Given the description of an element on the screen output the (x, y) to click on. 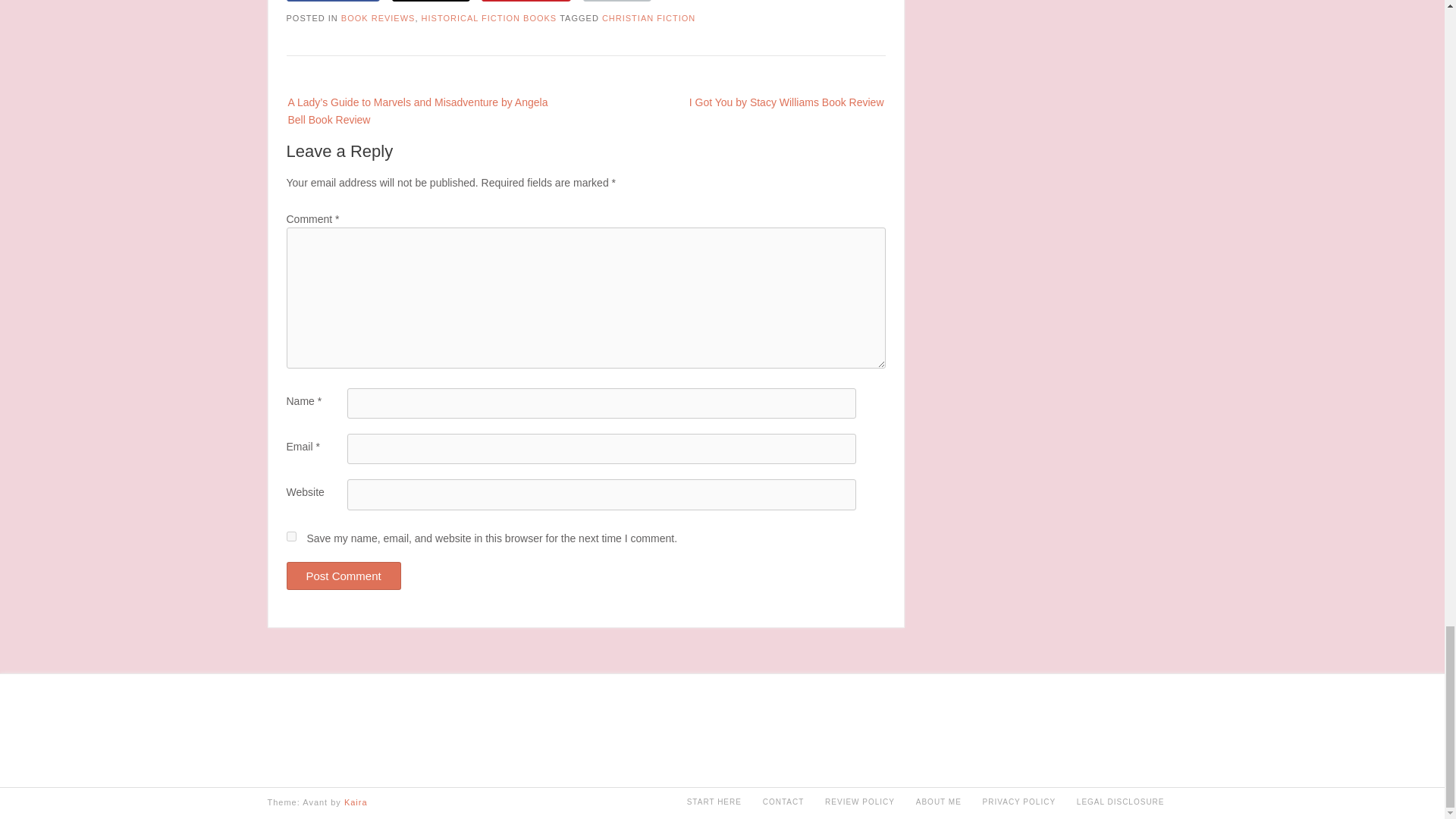
Pinterest (525, 0)
Twitter (430, 0)
Facebook (333, 0)
Post Comment (343, 575)
yes (291, 536)
Share on Facebook (333, 0)
Print (616, 0)
Share on X (430, 0)
Print this webpage (616, 0)
Save to Pinterest (525, 0)
